Given the description of an element on the screen output the (x, y) to click on. 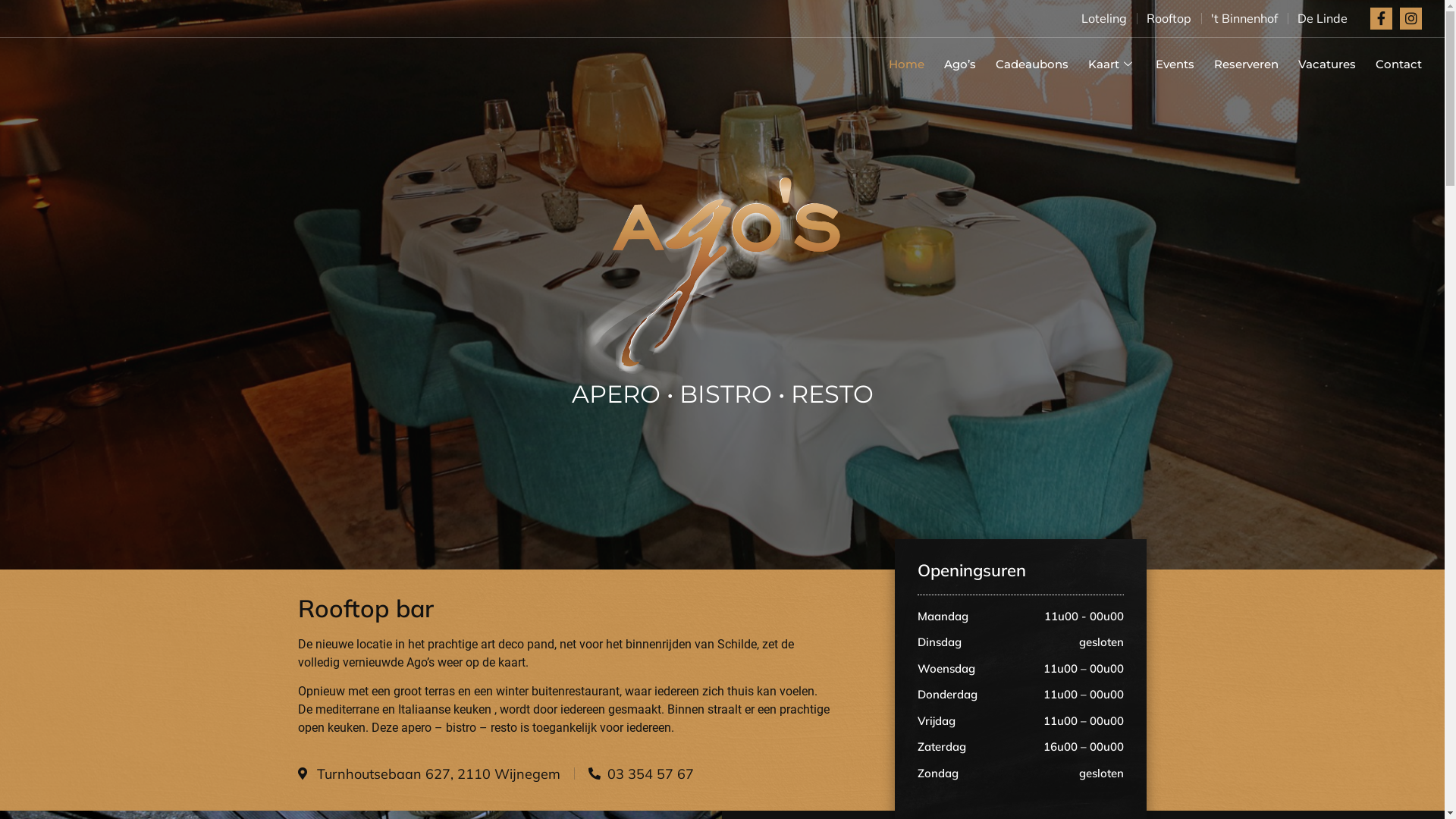
't Binnenhof Element type: text (1244, 18)
De Linde Element type: text (1322, 18)
Loteling Element type: text (1103, 18)
Kaart Element type: text (1101, 64)
03 354 57 67 Element type: text (640, 773)
Events Element type: text (1164, 64)
Turnhoutsebaan 627, 2110 Wijnegem Element type: text (428, 773)
Vacatures Element type: text (1316, 64)
Reserveren Element type: text (1236, 64)
Rooftop Element type: text (1168, 18)
Contact Element type: text (1388, 64)
Home Element type: text (896, 64)
Cadeaubons Element type: text (1021, 64)
